Given the description of an element on the screen output the (x, y) to click on. 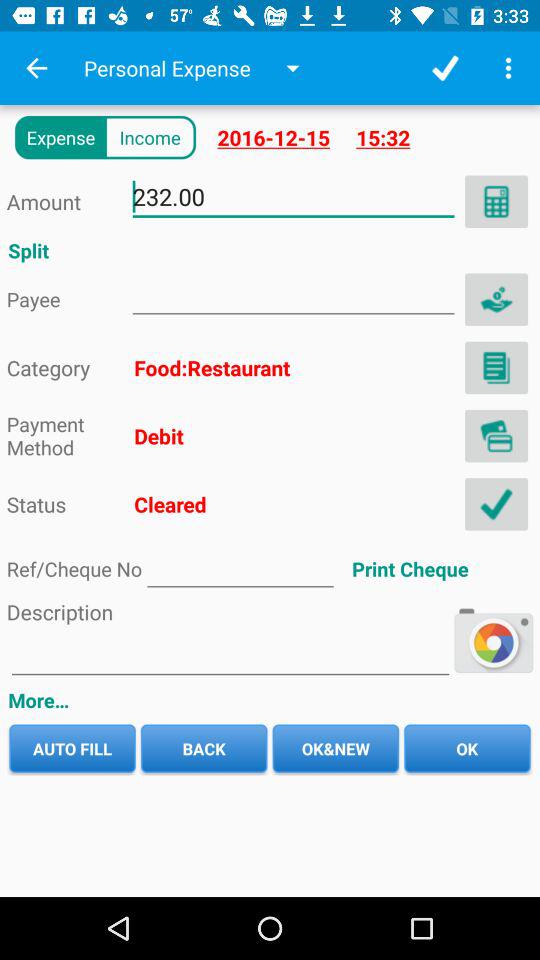
menu bar (508, 67)
